Given the description of an element on the screen output the (x, y) to click on. 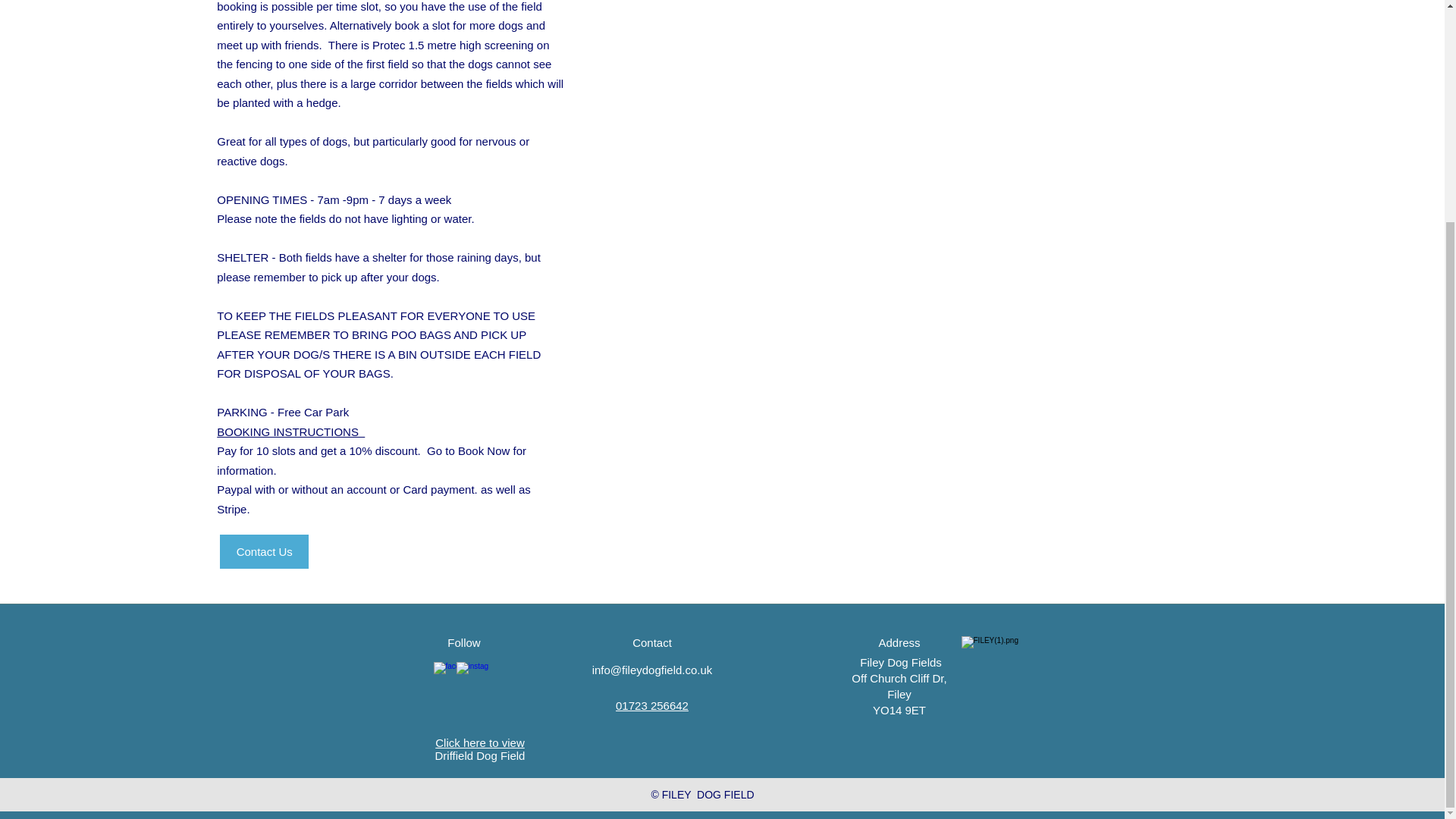
Driffield Dog Field (480, 755)
Click here to view (479, 742)
01723 256642 (651, 705)
Contact Us (263, 551)
BOOKING INSTRUCTIONS   (290, 431)
